Given the description of an element on the screen output the (x, y) to click on. 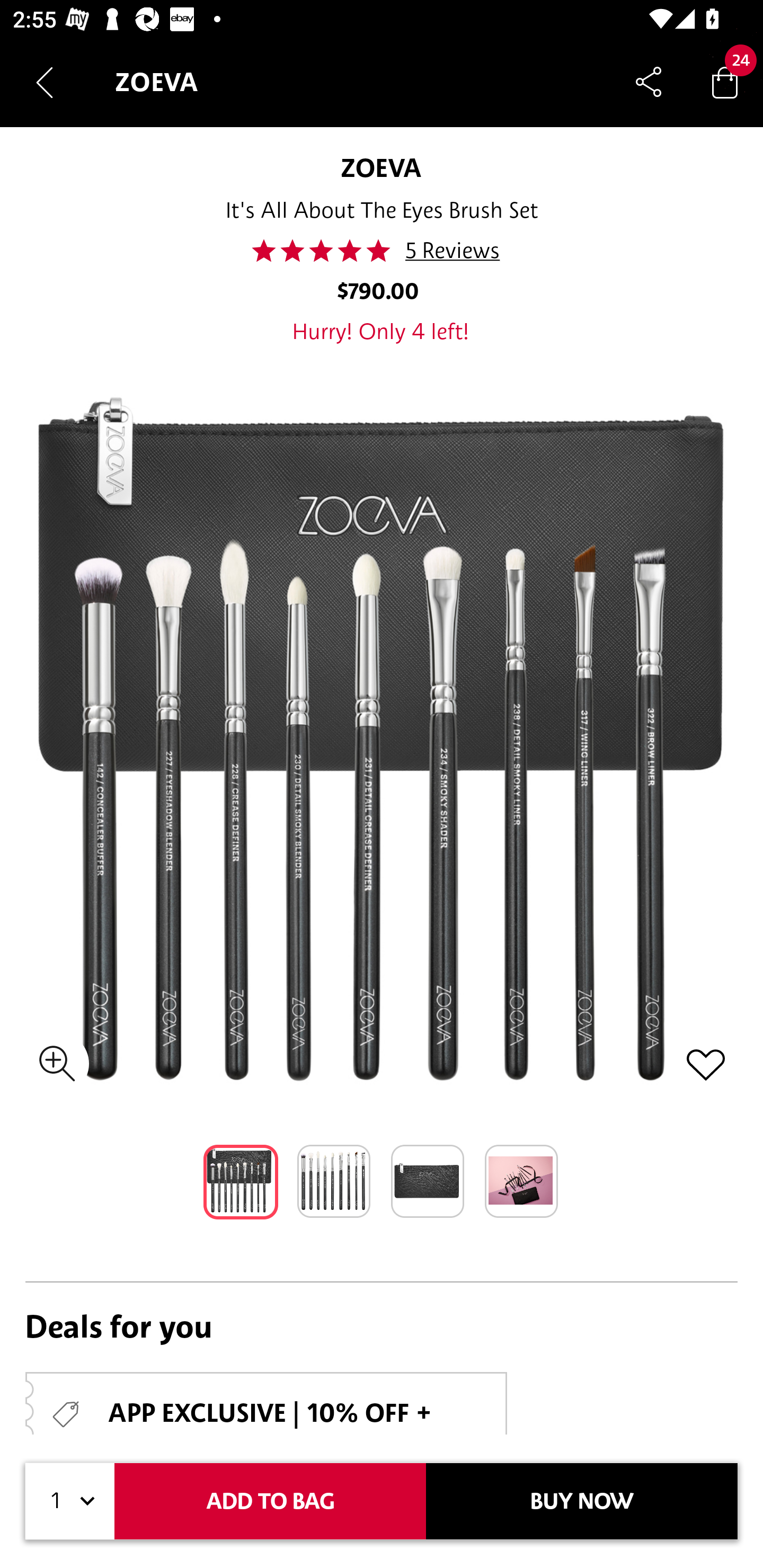
Navigate up (44, 82)
Share (648, 81)
Bag (724, 81)
ZOEVA (380, 167)
50.0 5 Reviews (380, 250)
1 (69, 1500)
ADD TO BAG (269, 1500)
BUY NOW (581, 1500)
